Given the description of an element on the screen output the (x, y) to click on. 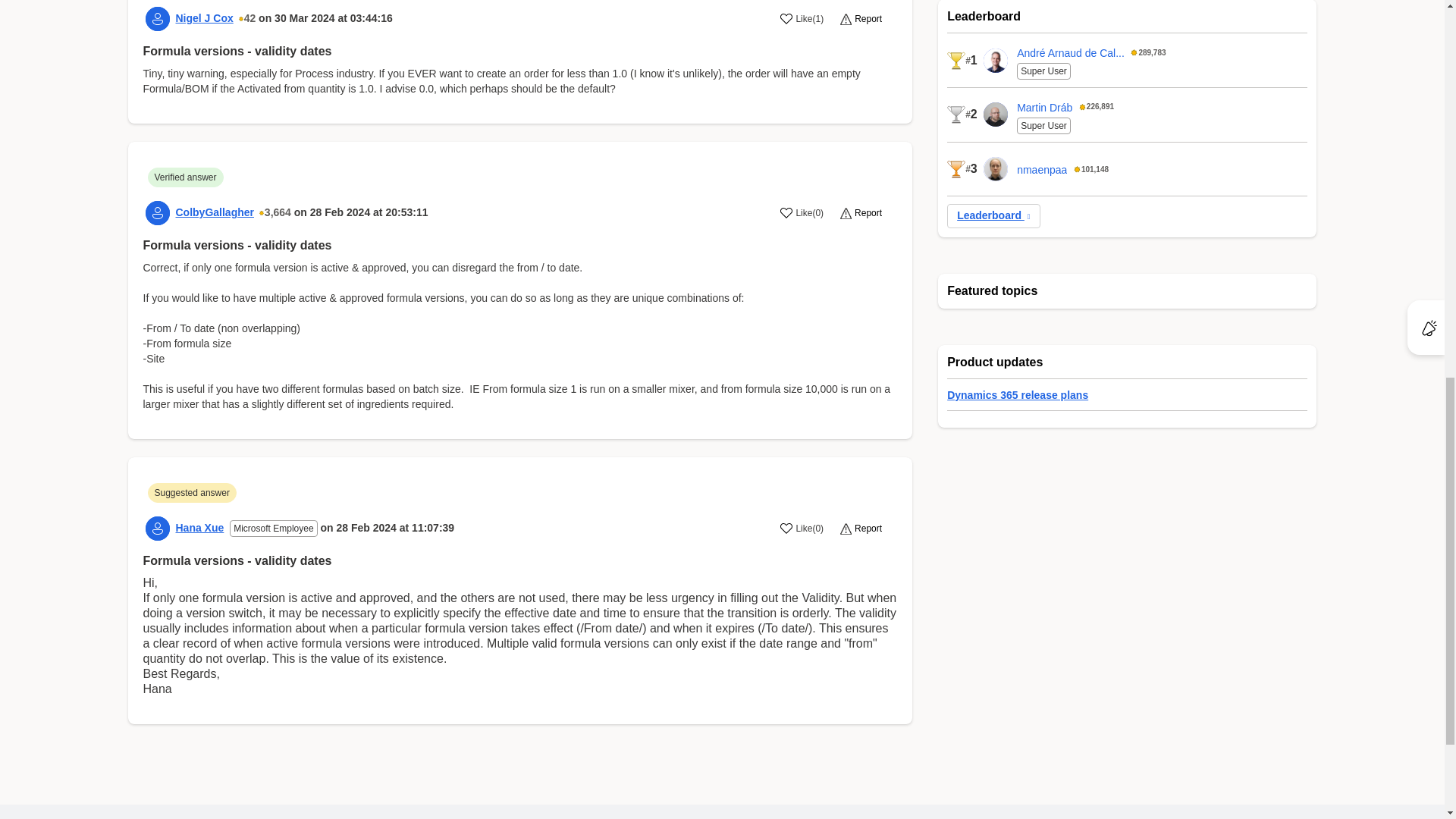
Hana Xue (200, 527)
Nigel J Cox (204, 18)
ColbyGallagher (214, 212)
